Given the description of an element on the screen output the (x, y) to click on. 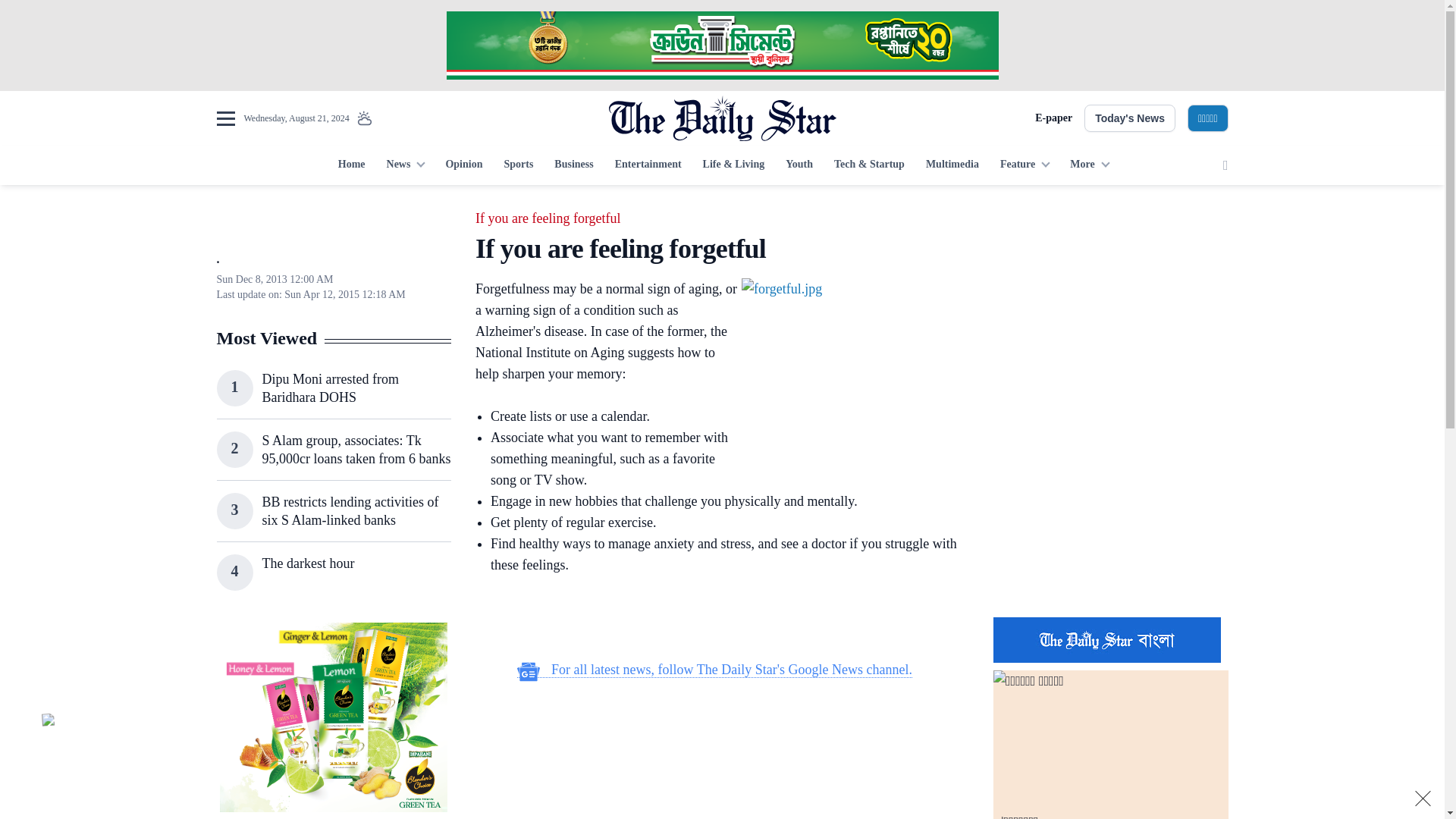
Opinion (463, 165)
3rd party ad content (714, 619)
Entertainment (647, 165)
Home (351, 165)
3rd party ad content (713, 757)
Feature (1024, 165)
3rd party ad content (1110, 302)
3rd party ad content (332, 717)
Business (573, 165)
